Given the description of an element on the screen output the (x, y) to click on. 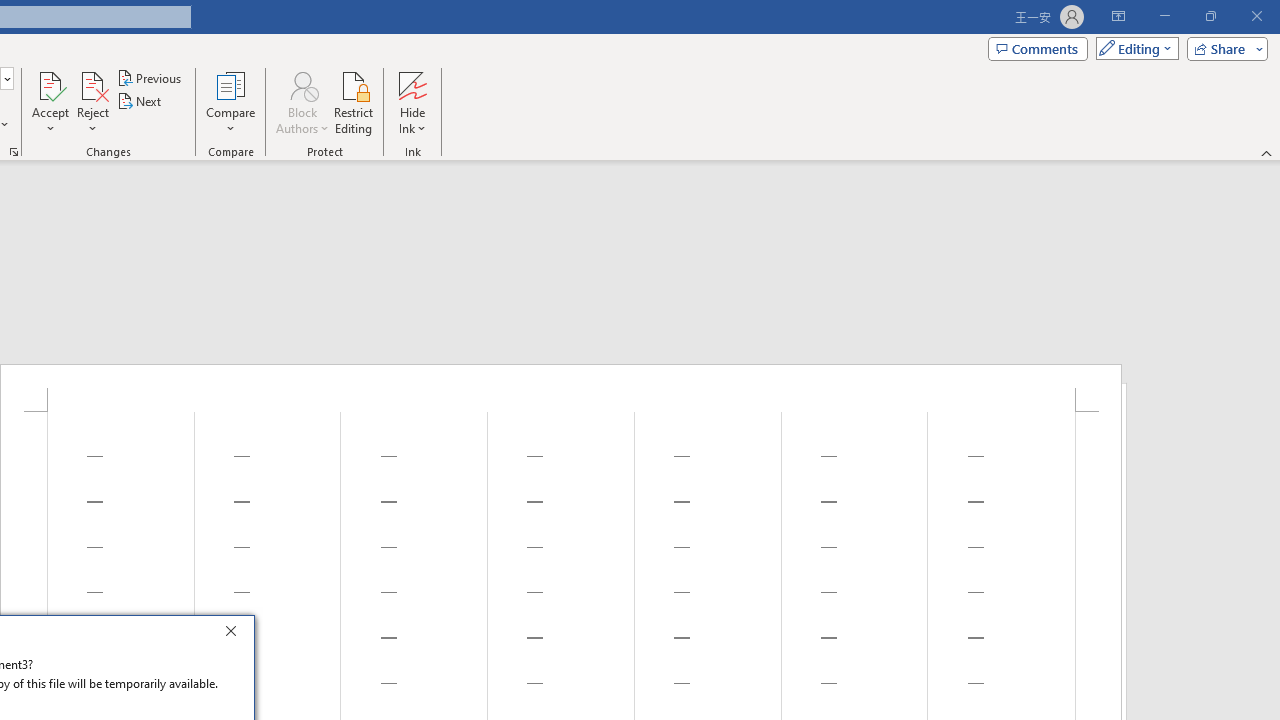
Reject and Move to Next (92, 84)
Reject (92, 102)
Block Authors (302, 102)
Hide Ink (412, 84)
Block Authors (302, 84)
Header -Section 1- (561, 387)
Accept (50, 102)
Hide Ink (412, 102)
